Given the description of an element on the screen output the (x, y) to click on. 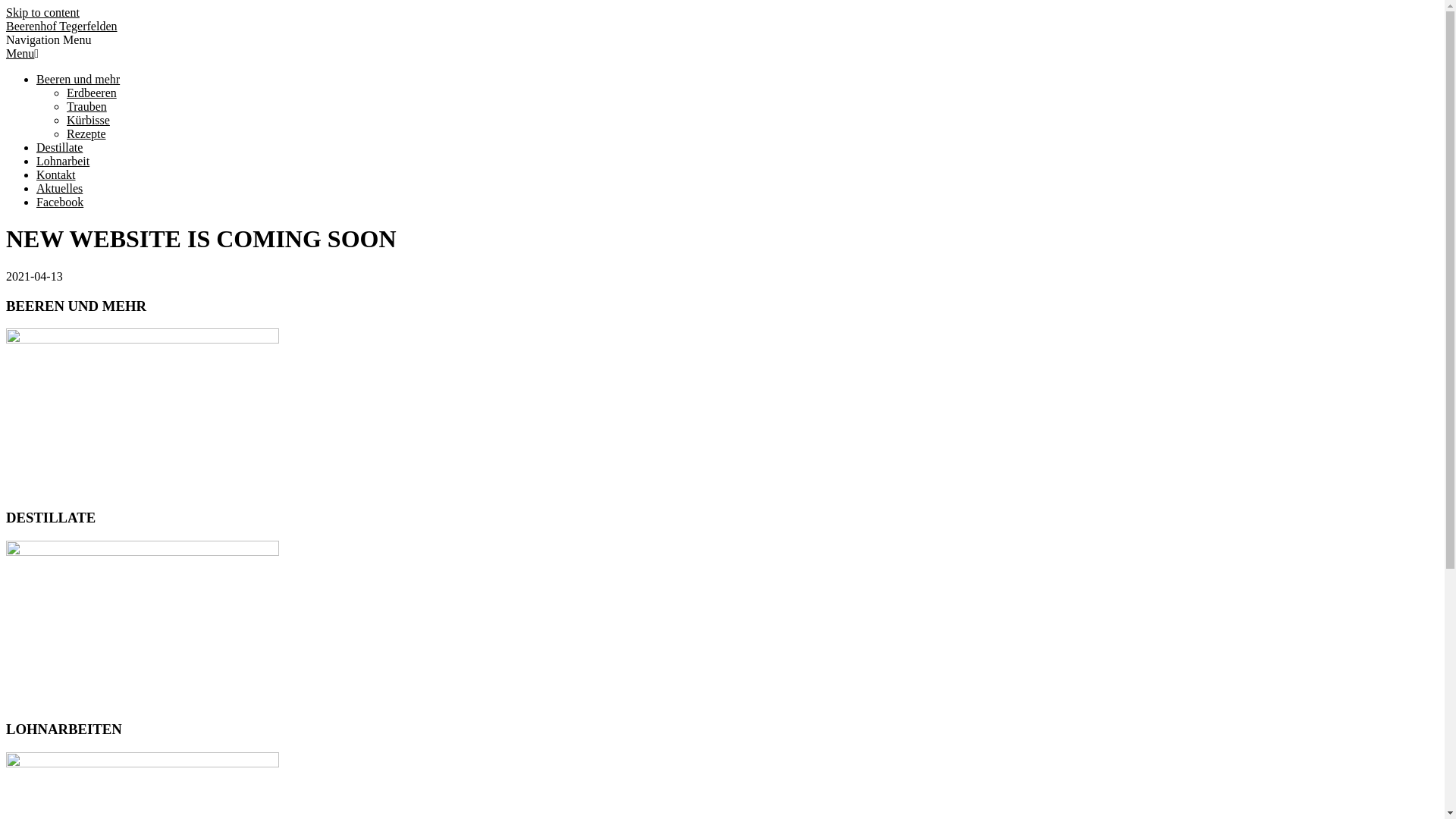
Trauben Element type: text (86, 106)
Rezepte Element type: text (86, 133)
Kontakt Element type: text (55, 174)
Facebook Element type: text (59, 201)
Beeren und mehr Element type: text (77, 78)
Aktuelles Element type: text (59, 188)
Menu Element type: text (22, 53)
Destillate Element type: text (59, 147)
Skip to content Element type: text (42, 12)
Erdbeeren Element type: text (91, 92)
Beerenhof Tegerfelden Element type: text (61, 25)
Lohnarbeit Element type: text (62, 160)
